Given the description of an element on the screen output the (x, y) to click on. 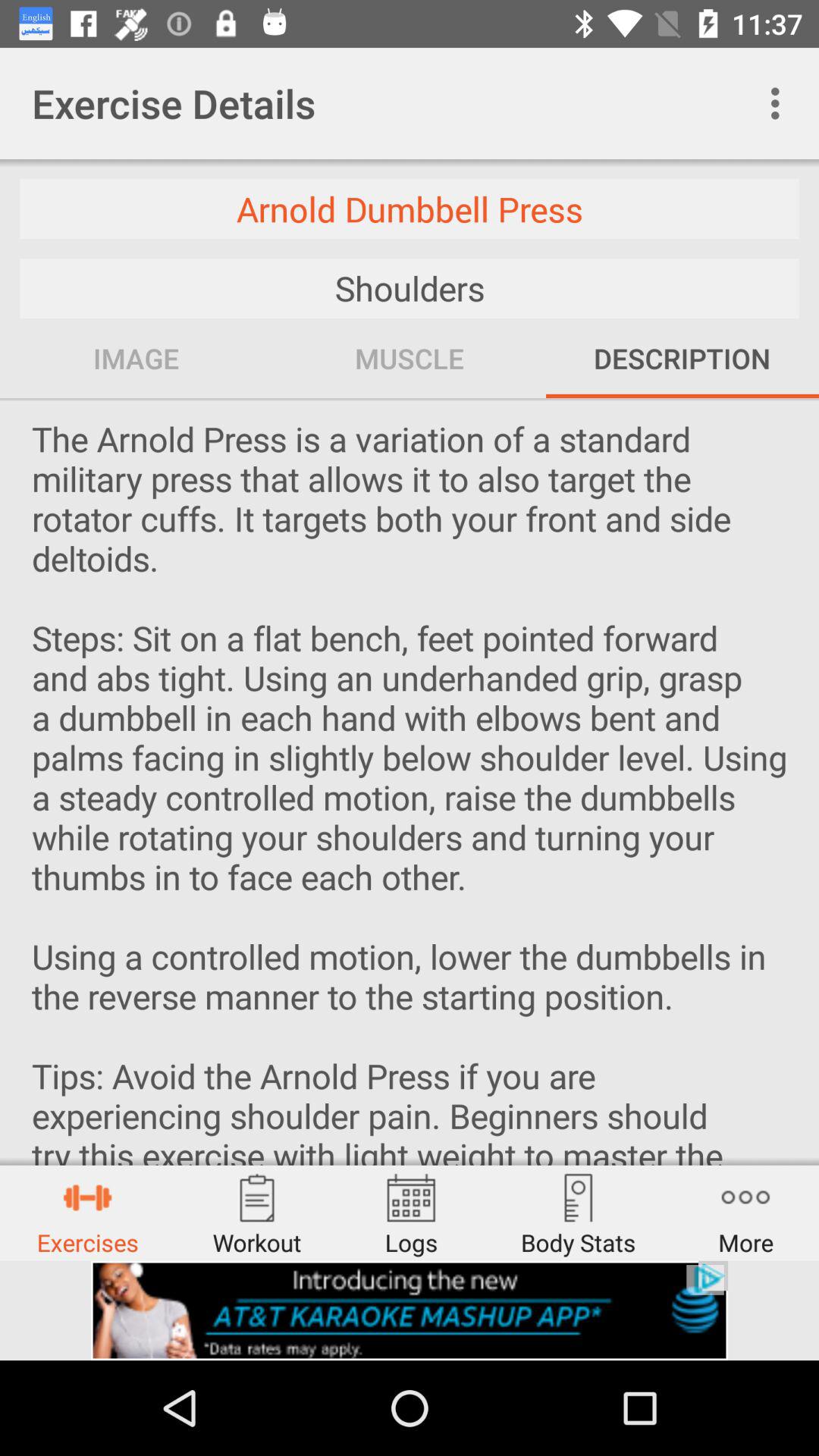
advertisement (409, 1310)
